Given the description of an element on the screen output the (x, y) to click on. 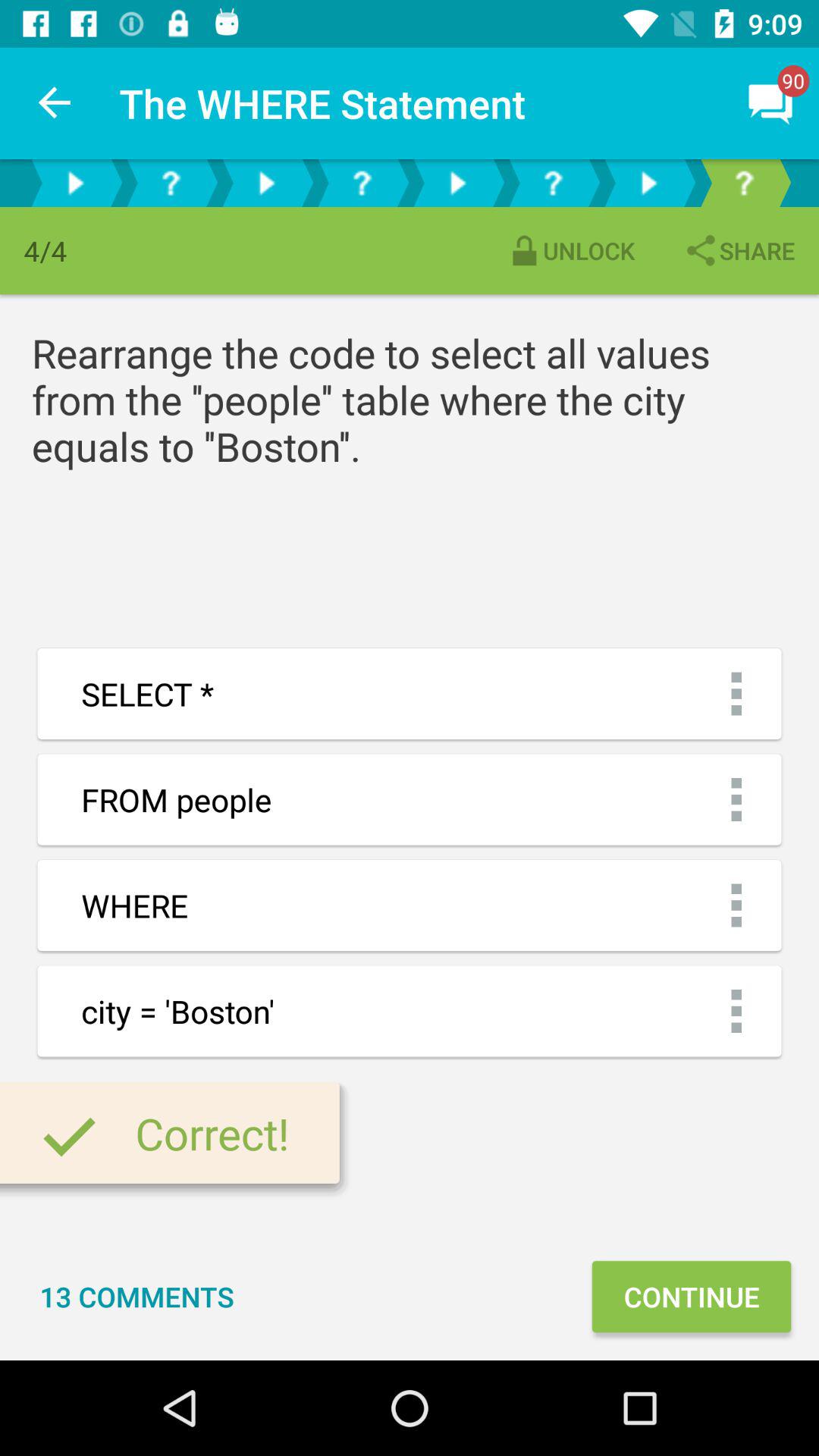
current selection (743, 183)
